Given the description of an element on the screen output the (x, y) to click on. 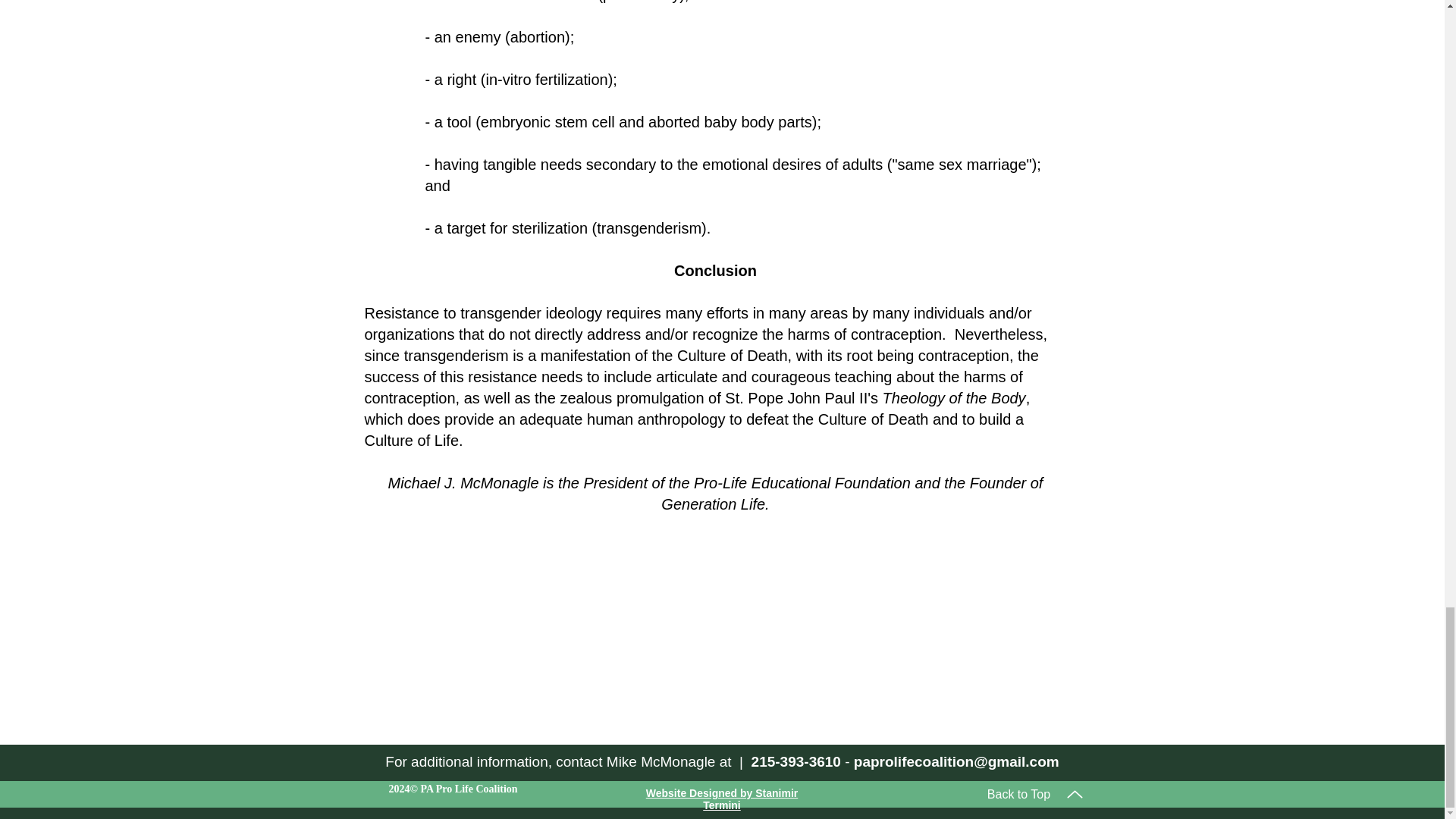
215-393-3610 (796, 761)
Website Designed by Stanimir Termini (721, 799)
Back to Top (1036, 794)
